Given the description of an element on the screen output the (x, y) to click on. 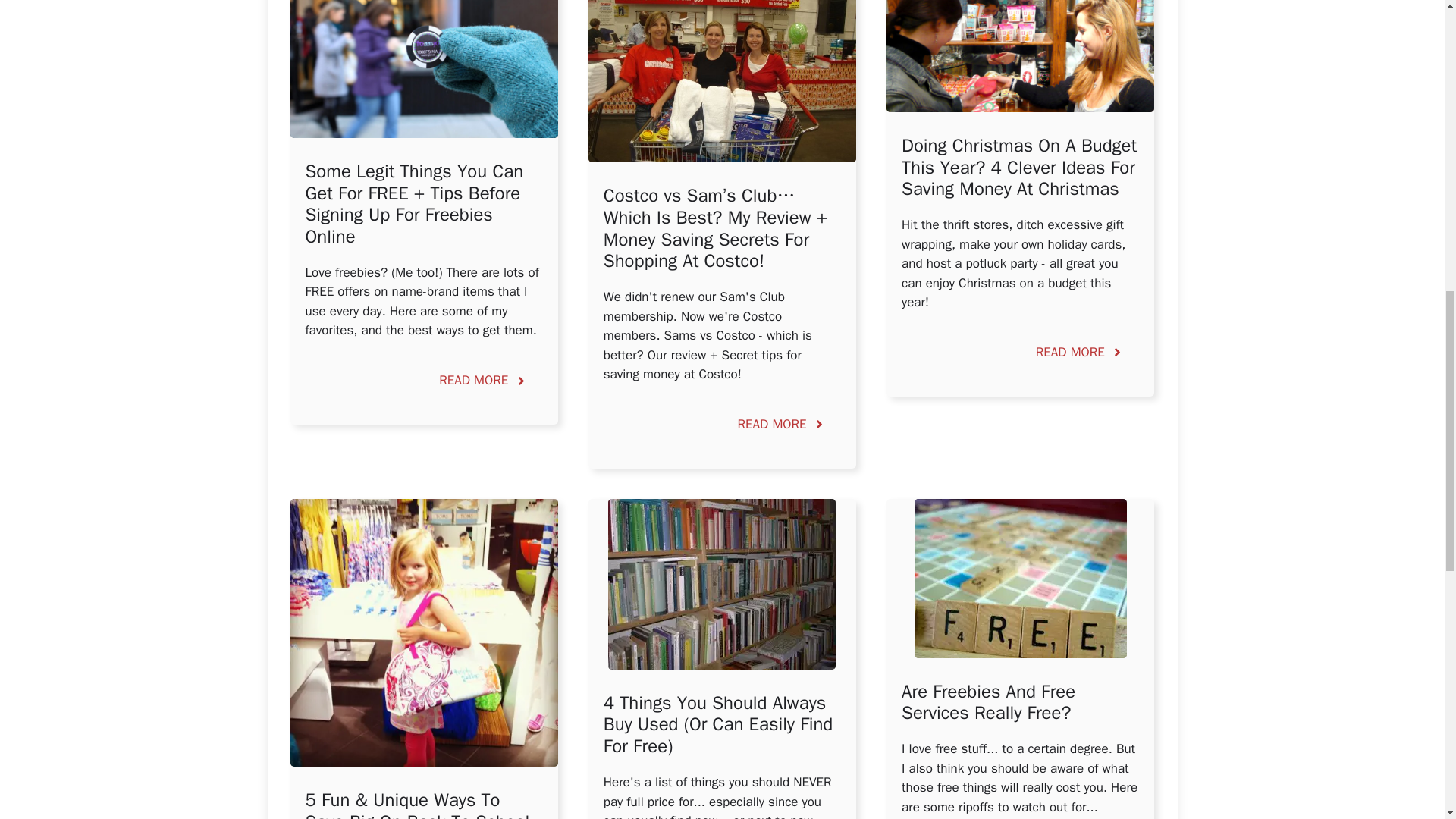
Are Freebies And Free Services Really Free? (988, 702)
READ MORE (781, 424)
READ MORE (483, 380)
Scroll back to top (1406, 720)
READ MORE (1080, 352)
